Given the description of an element on the screen output the (x, y) to click on. 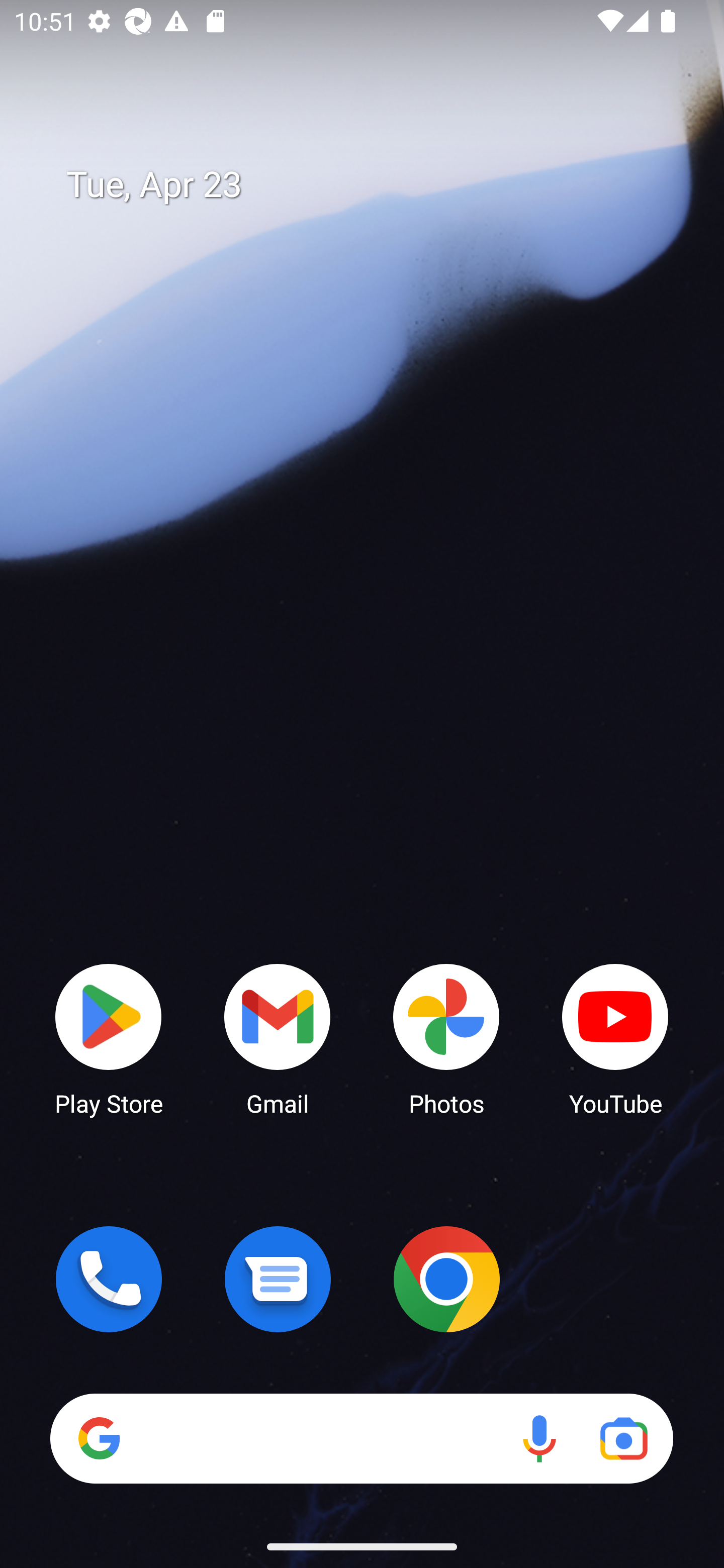
Tue, Apr 23 (375, 184)
Play Store (108, 1038)
Gmail (277, 1038)
Photos (445, 1038)
YouTube (615, 1038)
Phone (108, 1279)
Messages (277, 1279)
Chrome (446, 1279)
Search Voice search Google Lens (361, 1438)
Voice search (539, 1438)
Google Lens (623, 1438)
